Given the description of an element on the screen output the (x, y) to click on. 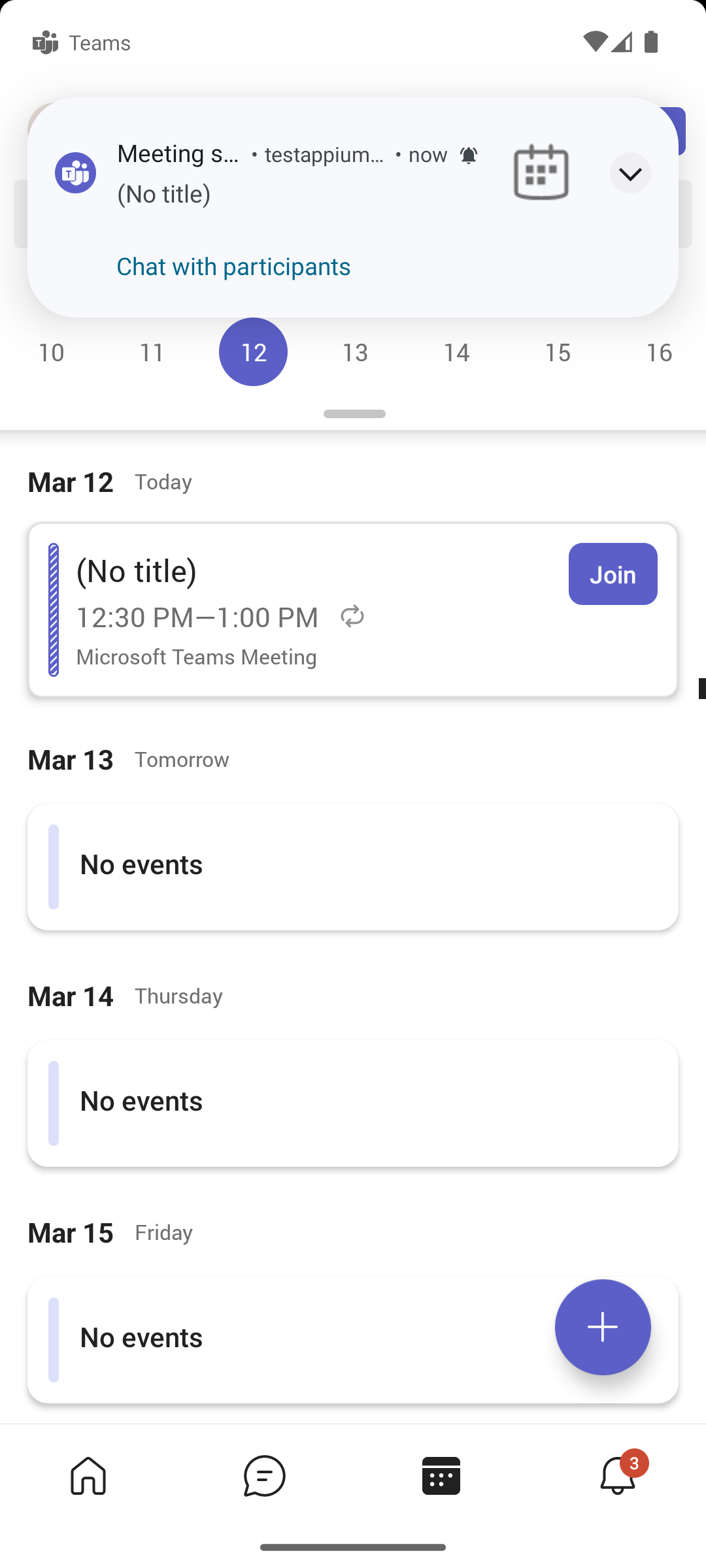
Sunday, March 10 10 (50, 351)
Monday, March 11 11 (151, 351)
Tuesday, March 12, Today, Selected 12 (253, 351)
Wednesday, March 13 13 (354, 351)
Thursday, March 14 14 (455, 351)
Friday, March 15 15 (556, 351)
Saturday, March 16 16 (656, 351)
Join (613, 573)
Expand meetings menu (602, 1327)
Home tab,1 of 4, not selected (88, 1475)
Chat tab,2 of 4, not selected (264, 1475)
Calendar tab, 3 of 4 (441, 1475)
Activity tab,4 of 4, not selected, 3 new 3 (617, 1475)
